Given the description of an element on the screen output the (x, y) to click on. 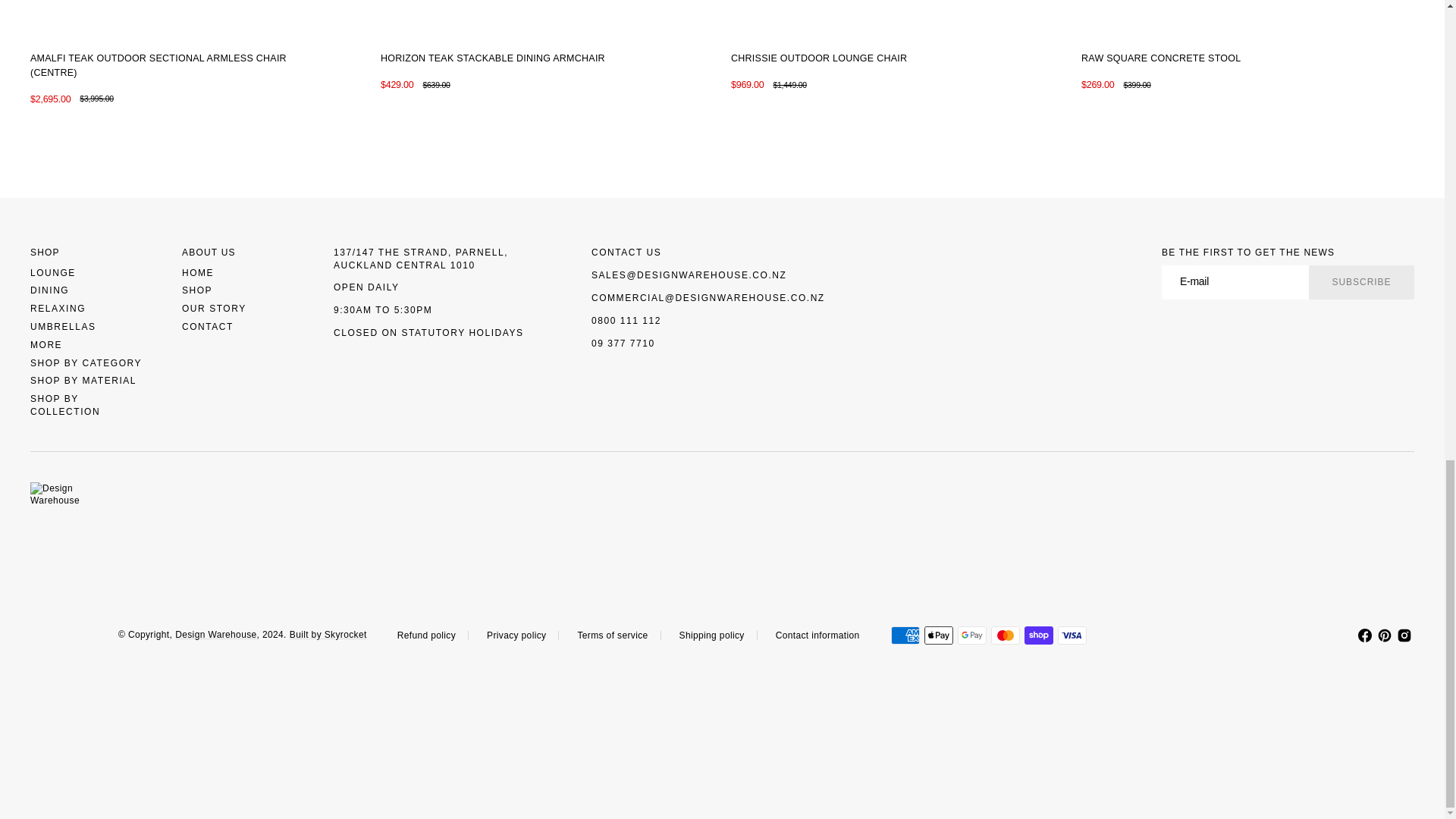
Horizon Teak Stackable Dining Armchair (492, 58)
Chrissie Outdoor Lounge Chair (818, 58)
Raw Square Concrete Stool (1160, 58)
